Given the description of an element on the screen output the (x, y) to click on. 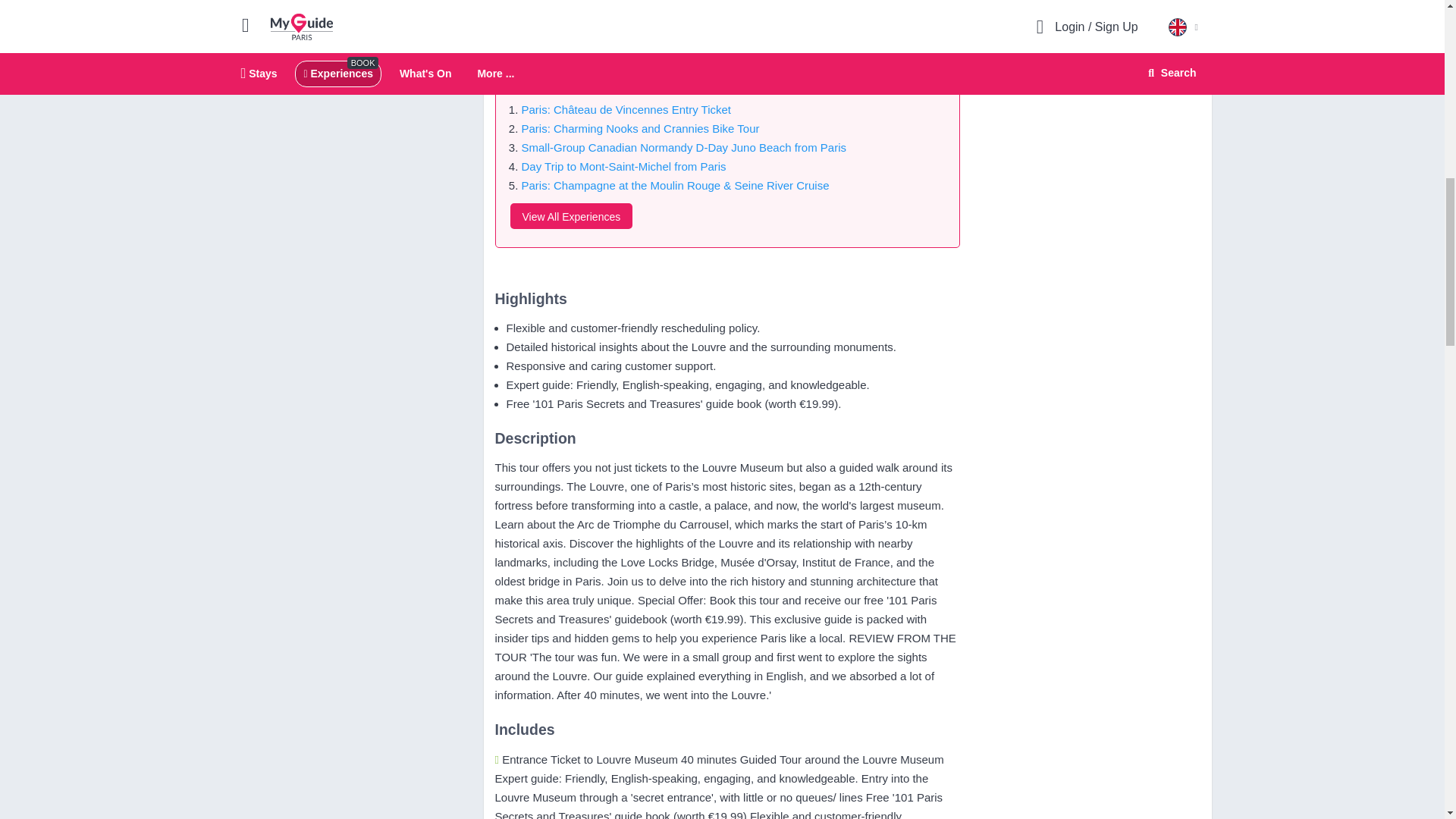
GetYourGuide Widget (1087, 21)
View All Experiences (570, 216)
